Given the description of an element on the screen output the (x, y) to click on. 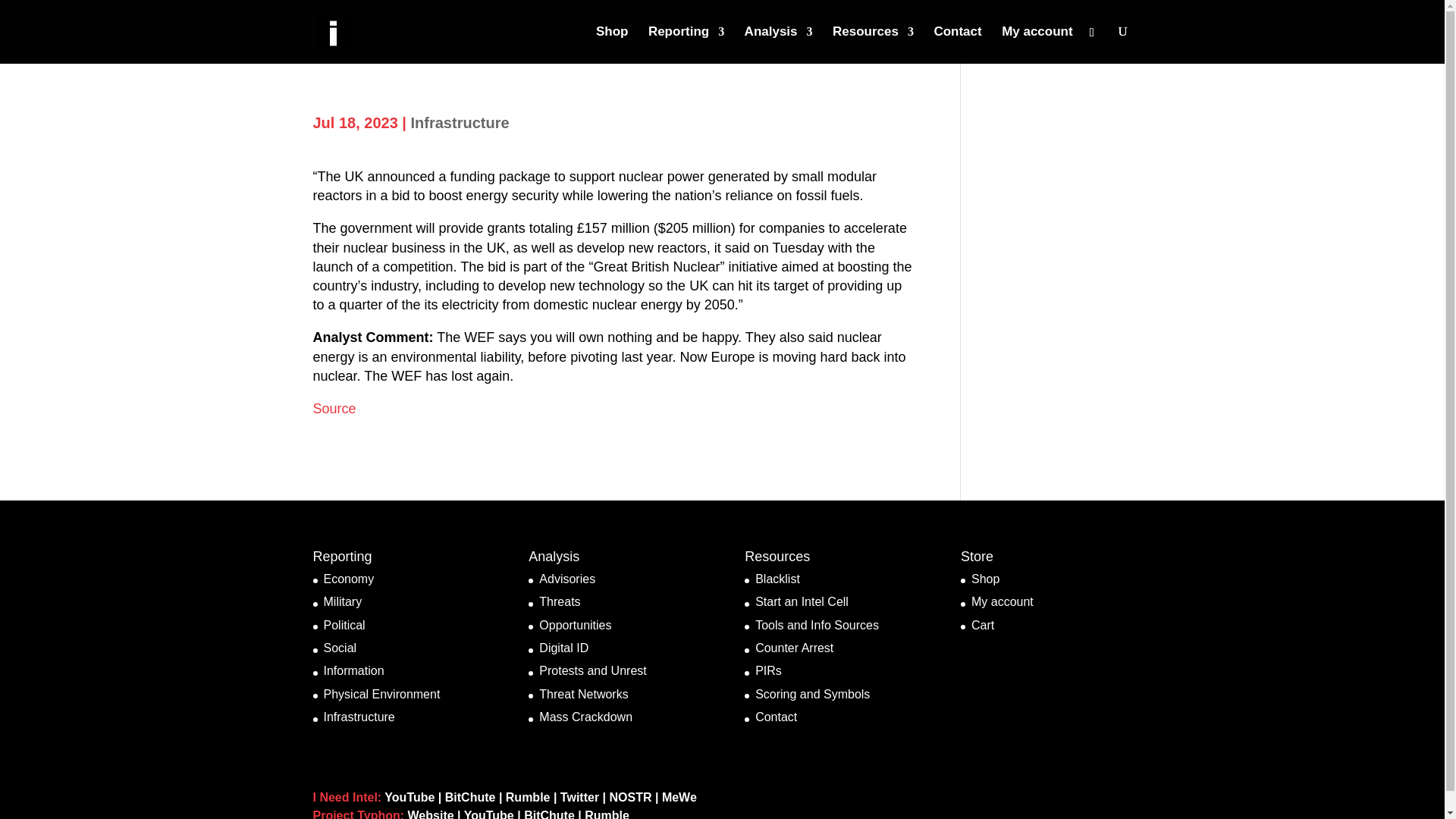
Contact (957, 44)
Reporting (685, 44)
My account (1037, 44)
Analysis (778, 44)
Resources (873, 44)
